Given the description of an element on the screen output the (x, y) to click on. 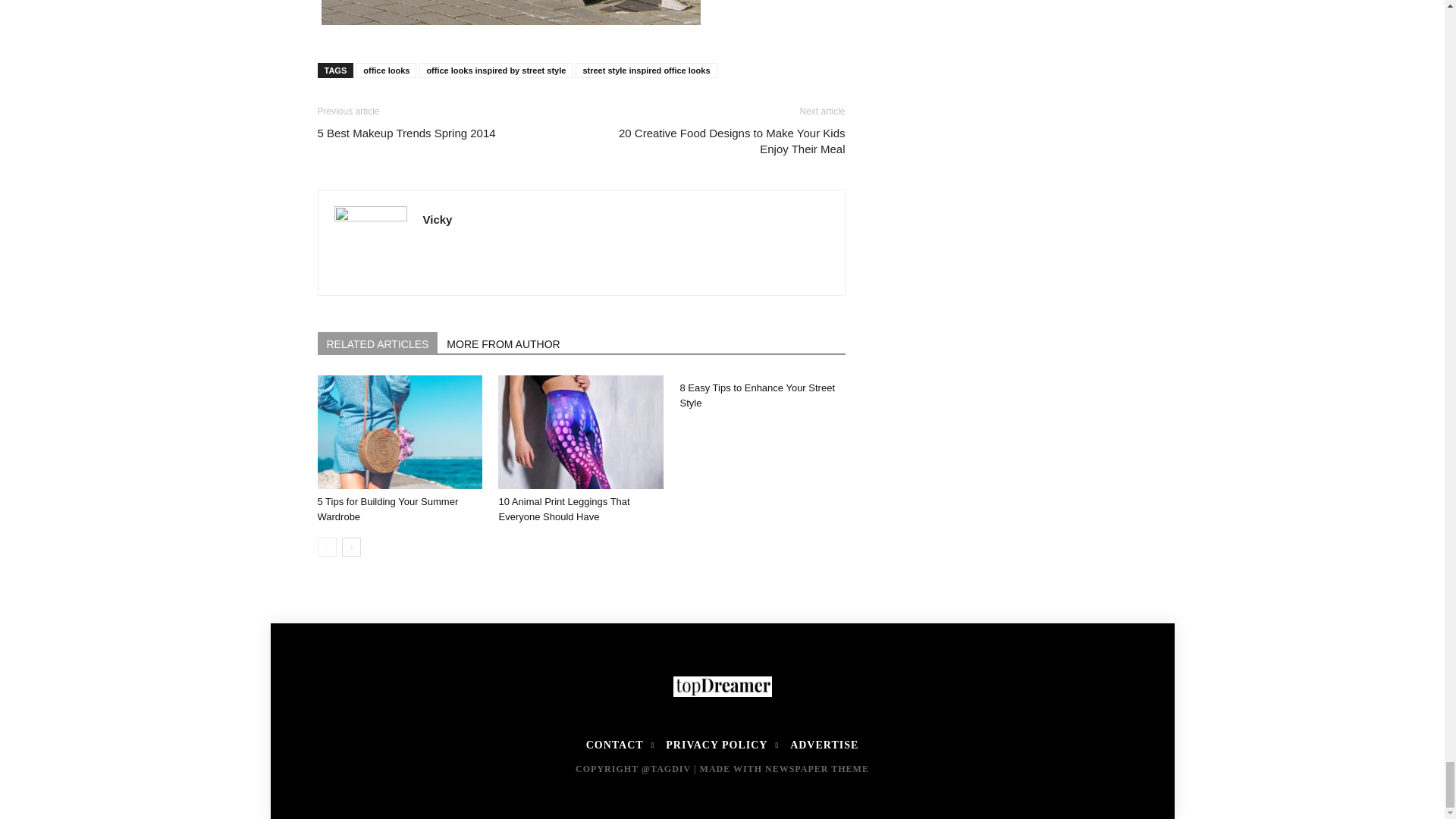
10 Animal Print Leggings That Everyone Should Have (580, 431)
5 Tips for Building Your Summer Wardrobe (399, 431)
10 Animal Print Leggings That Everyone Should Have (562, 509)
5 Tips for Building Your Summer Wardrobe (387, 509)
